Given the description of an element on the screen output the (x, y) to click on. 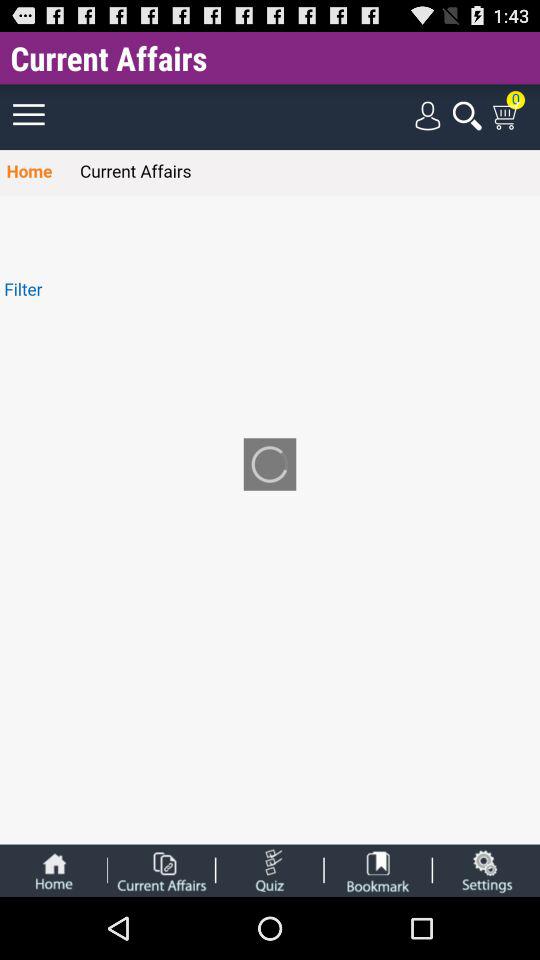
bookmark (378, 870)
